Given the description of an element on the screen output the (x, y) to click on. 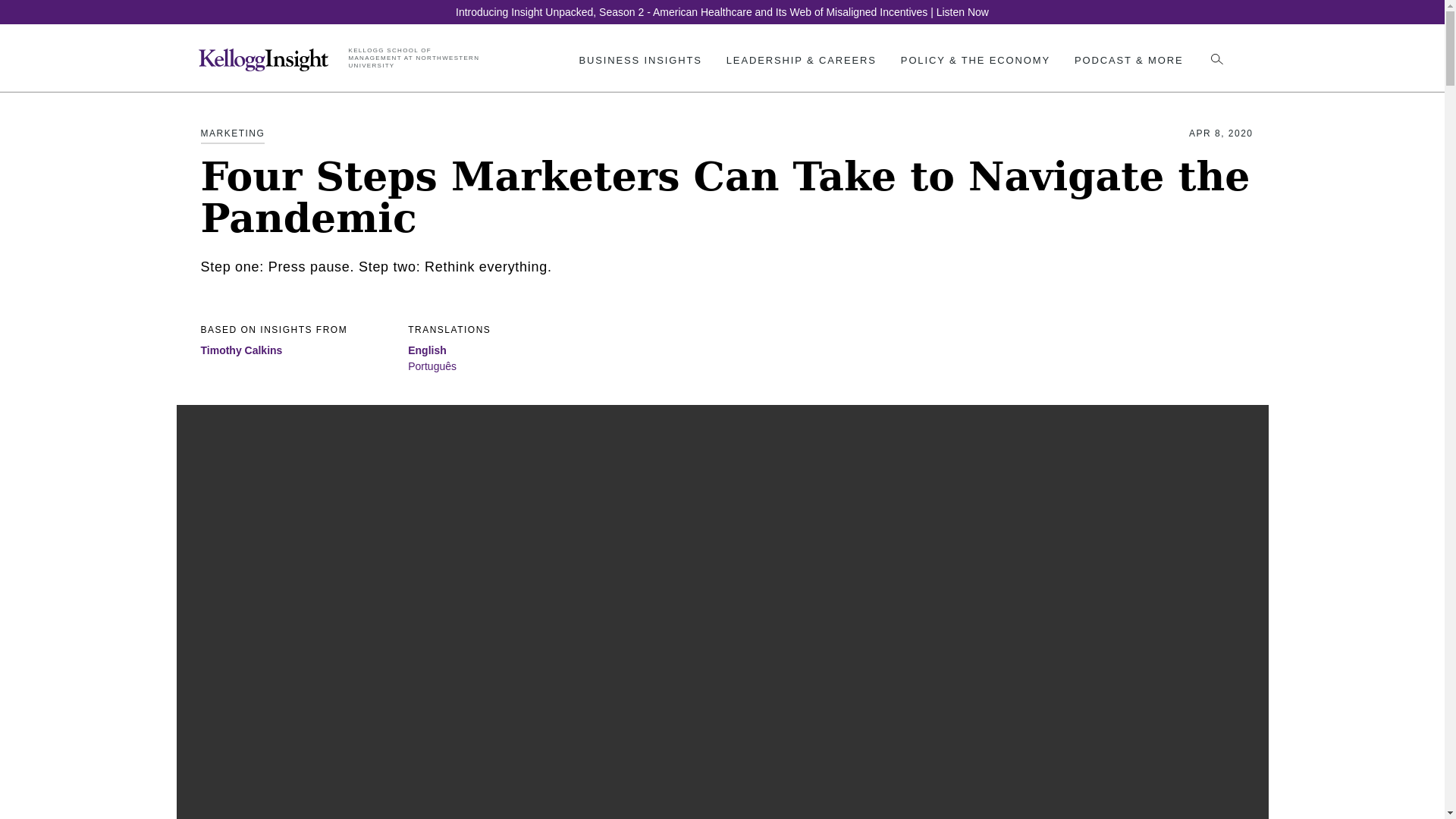
linkedin (1143, 41)
email (1173, 41)
twitter (1087, 41)
search (1216, 59)
KELLOGG SCHOOL OF MANAGEMENT AT NORTHWESTERN UNIVERSITY (416, 57)
facebook (1115, 42)
Four Steps Marketers Can Take to Navigate the Pandemic (426, 349)
facebook (1116, 42)
BUSINESS INSIGHTS (639, 60)
print (1203, 41)
search (1216, 60)
logo (265, 69)
twitter (1087, 42)
linkedin (1143, 42)
logo (263, 59)
